Given the description of an element on the screen output the (x, y) to click on. 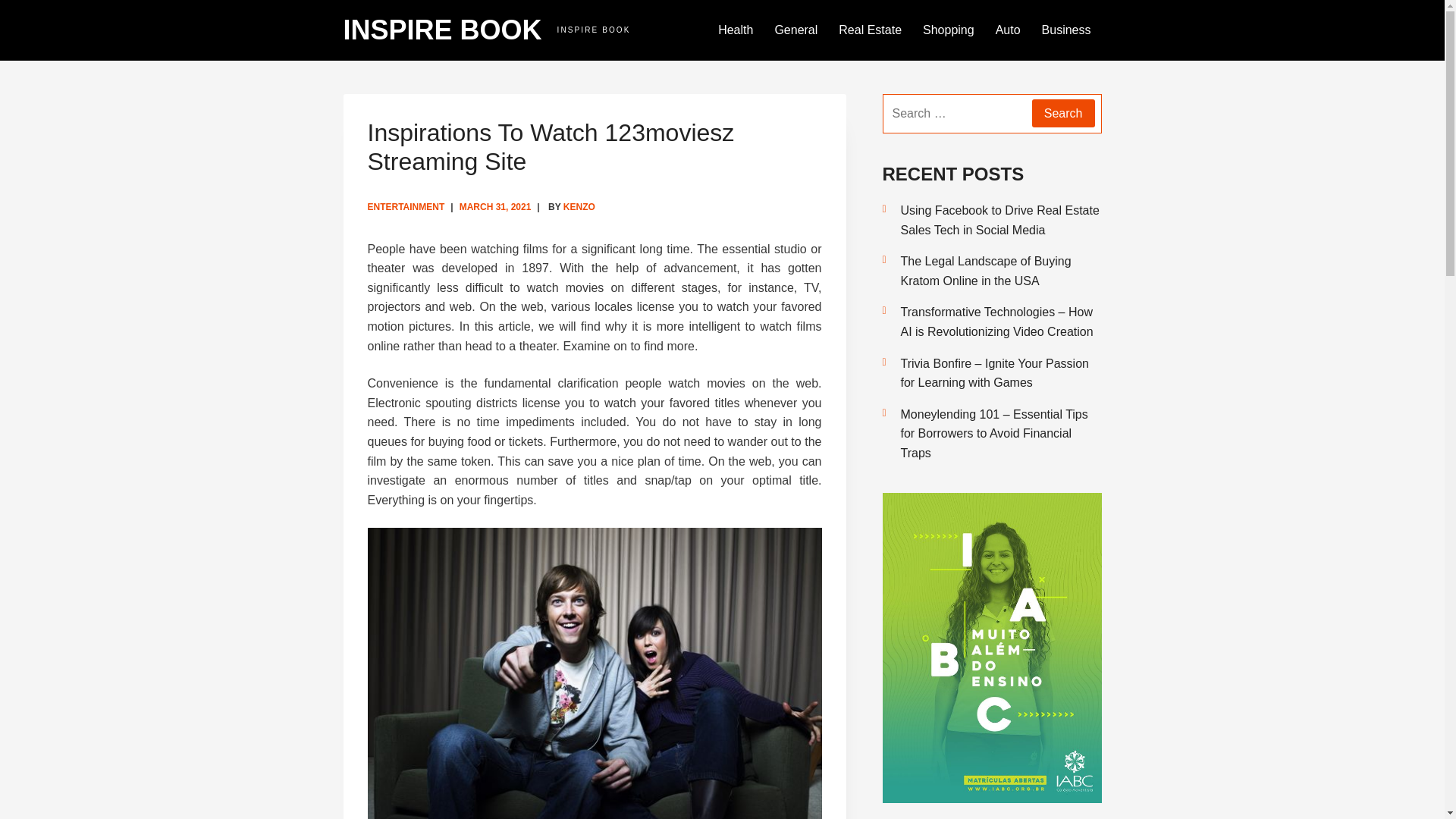
Auto (1007, 30)
Search (1063, 113)
Business (1066, 30)
MARCH 31, 2021 (495, 206)
Shopping (948, 30)
INSPIRE BOOK (441, 29)
Search (1063, 113)
Real Estate (870, 30)
Search (1063, 113)
Health (734, 30)
General (795, 30)
KENZO (579, 206)
ENTERTAINMENT (405, 206)
